Given the description of an element on the screen output the (x, y) to click on. 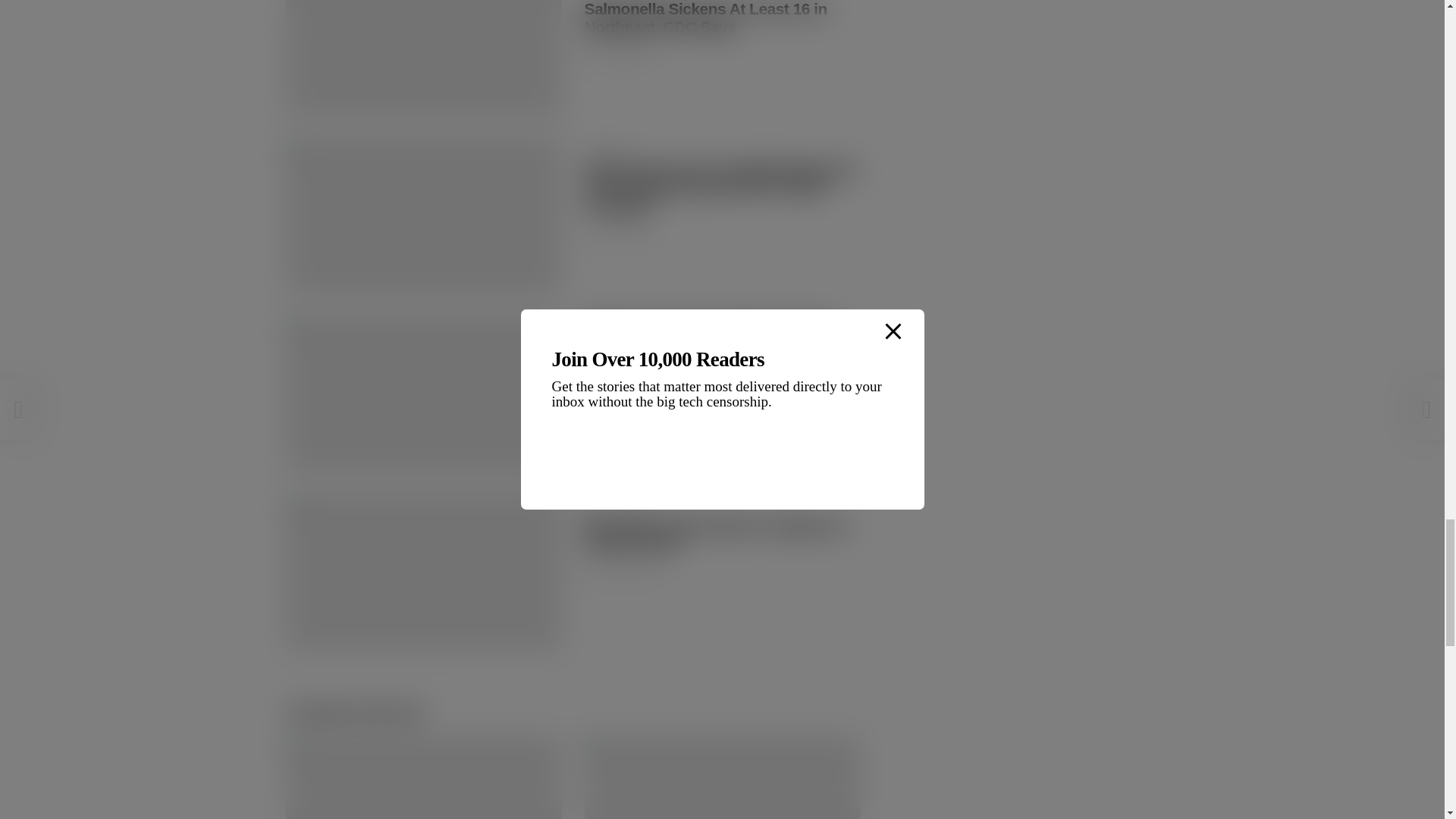
July 27, 2023, 12:29 pm (616, 54)
Blue Bell Creates New Dr. Pepper Ice Cream Flavor (715, 534)
